Given the description of an element on the screen output the (x, y) to click on. 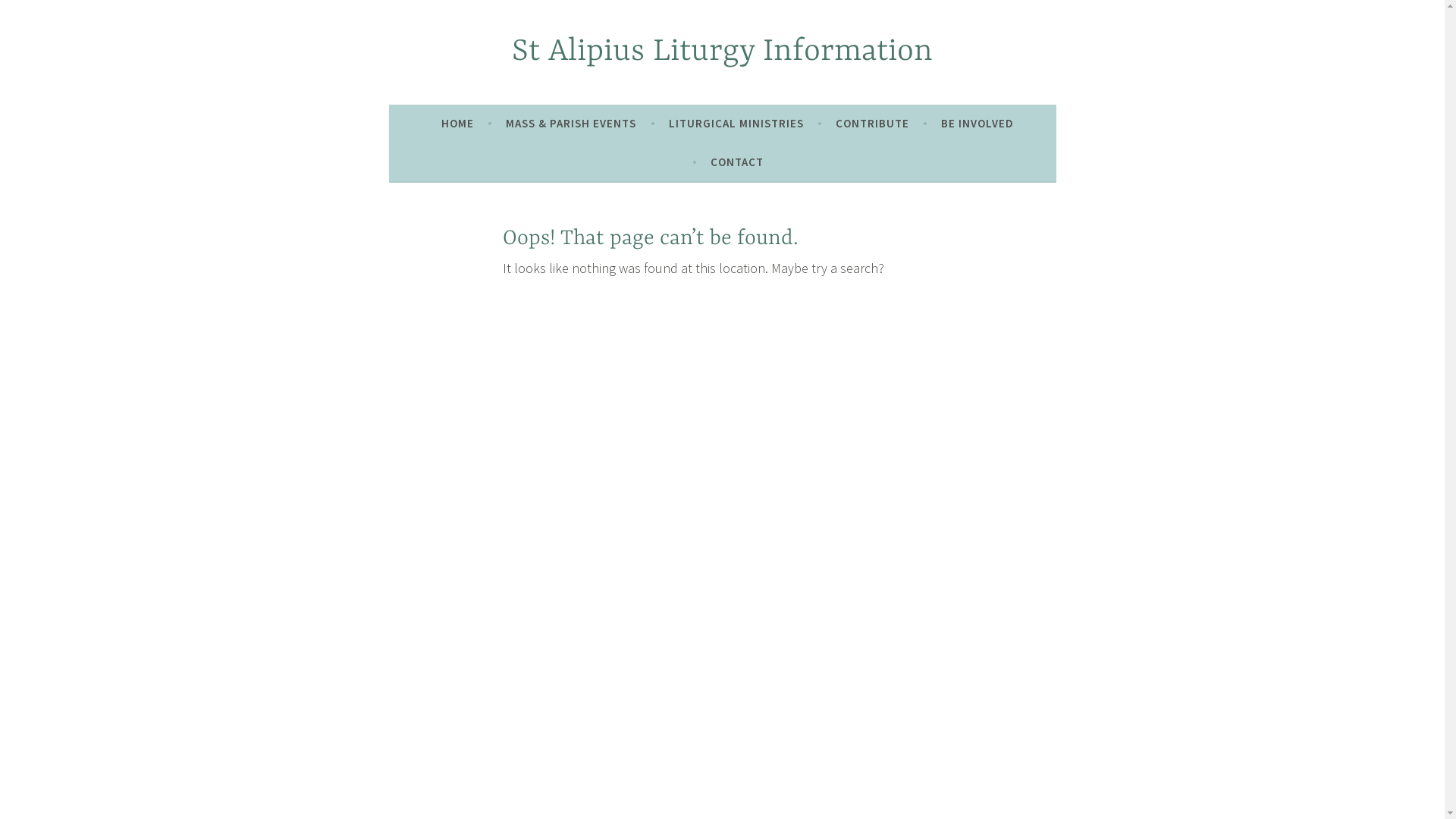
HOME Element type: text (457, 123)
St Alipius Liturgy Information Element type: text (721, 51)
CONTACT Element type: text (736, 161)
BE INVOLVED Element type: text (977, 123)
MASS & PARISH EVENTS Element type: text (570, 123)
CONTRIBUTE Element type: text (872, 123)
LITURGICAL MINISTRIES Element type: text (735, 123)
